Given the description of an element on the screen output the (x, y) to click on. 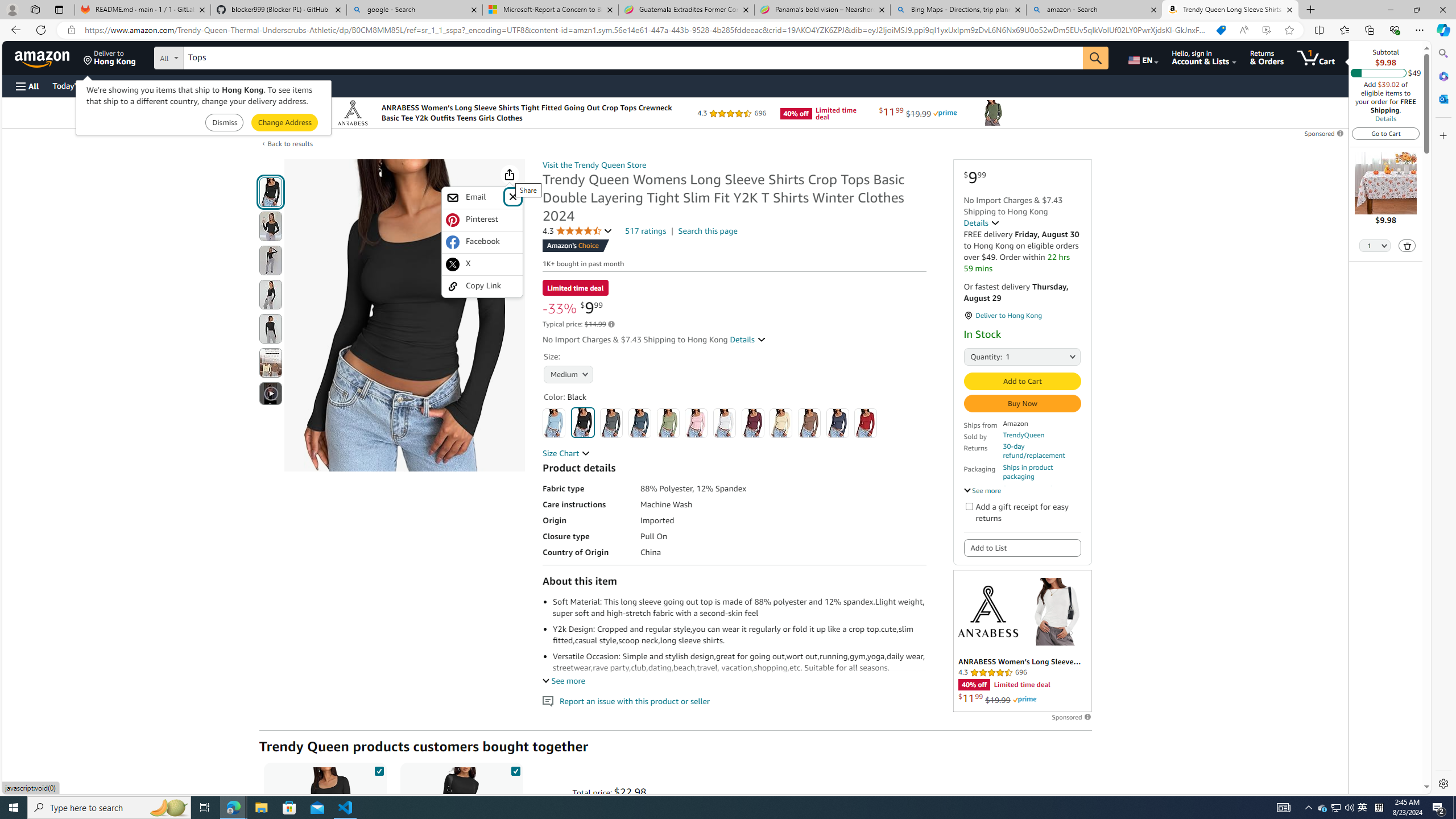
White (724, 422)
Haze Blue (639, 422)
X (482, 264)
White (724, 422)
amazon - Search (1094, 9)
Black (583, 422)
Search in (210, 56)
Baby Blue (553, 422)
Add to List (1021, 547)
